Given the description of an element on the screen output the (x, y) to click on. 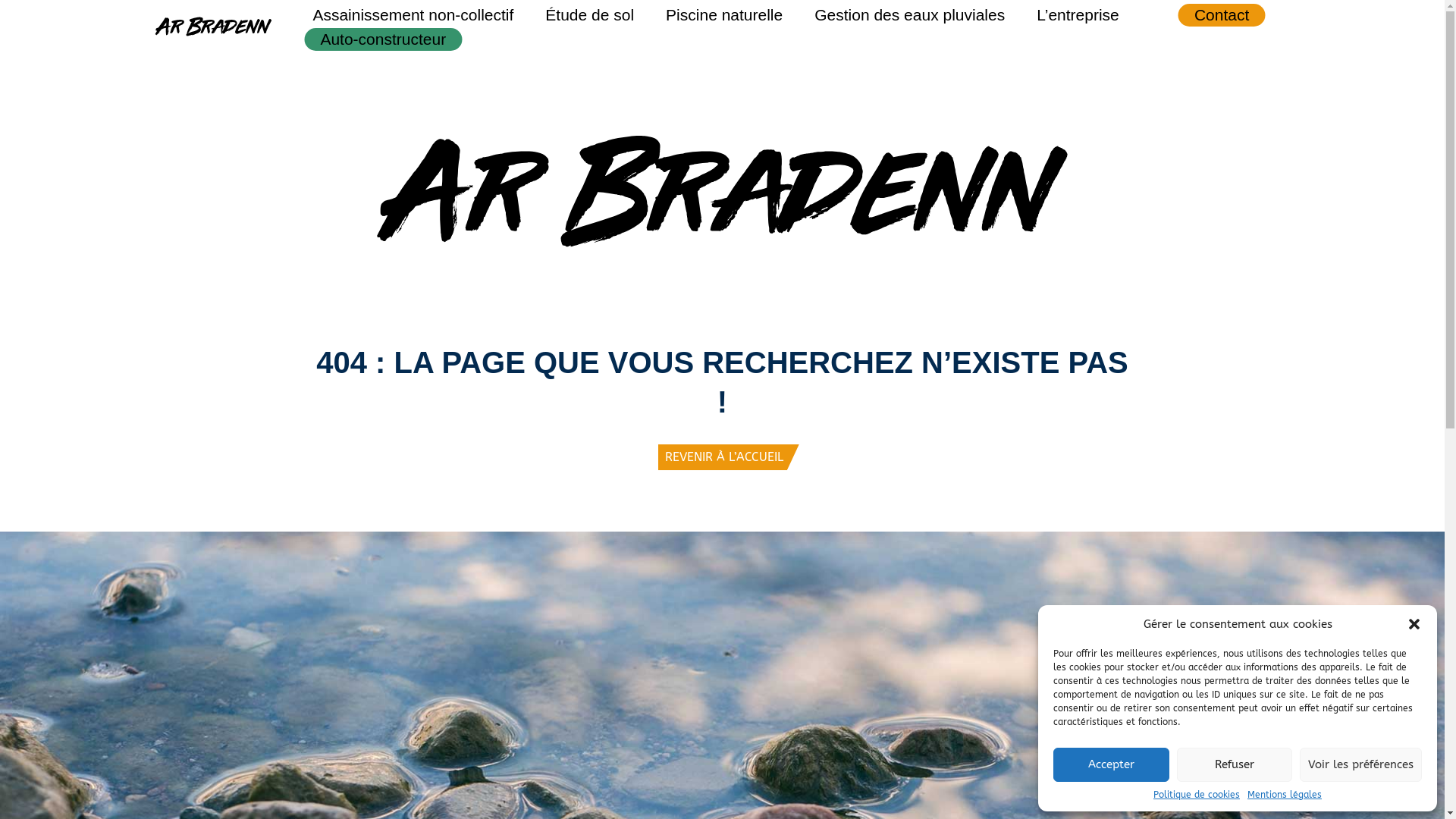
Accepter Element type: text (1111, 764)
Piscine naturelle Element type: text (724, 15)
Politique de cookies Element type: text (1196, 794)
Logos Ar Bradenn-texte Element type: hover (721, 190)
Assainissement non-collectif Element type: text (412, 15)
Refuser Element type: text (1234, 764)
Contact Element type: text (1221, 14)
Gestion des eaux pluviales Element type: text (909, 15)
Auto-constructeur Element type: text (382, 39)
